Given the description of an element on the screen output the (x, y) to click on. 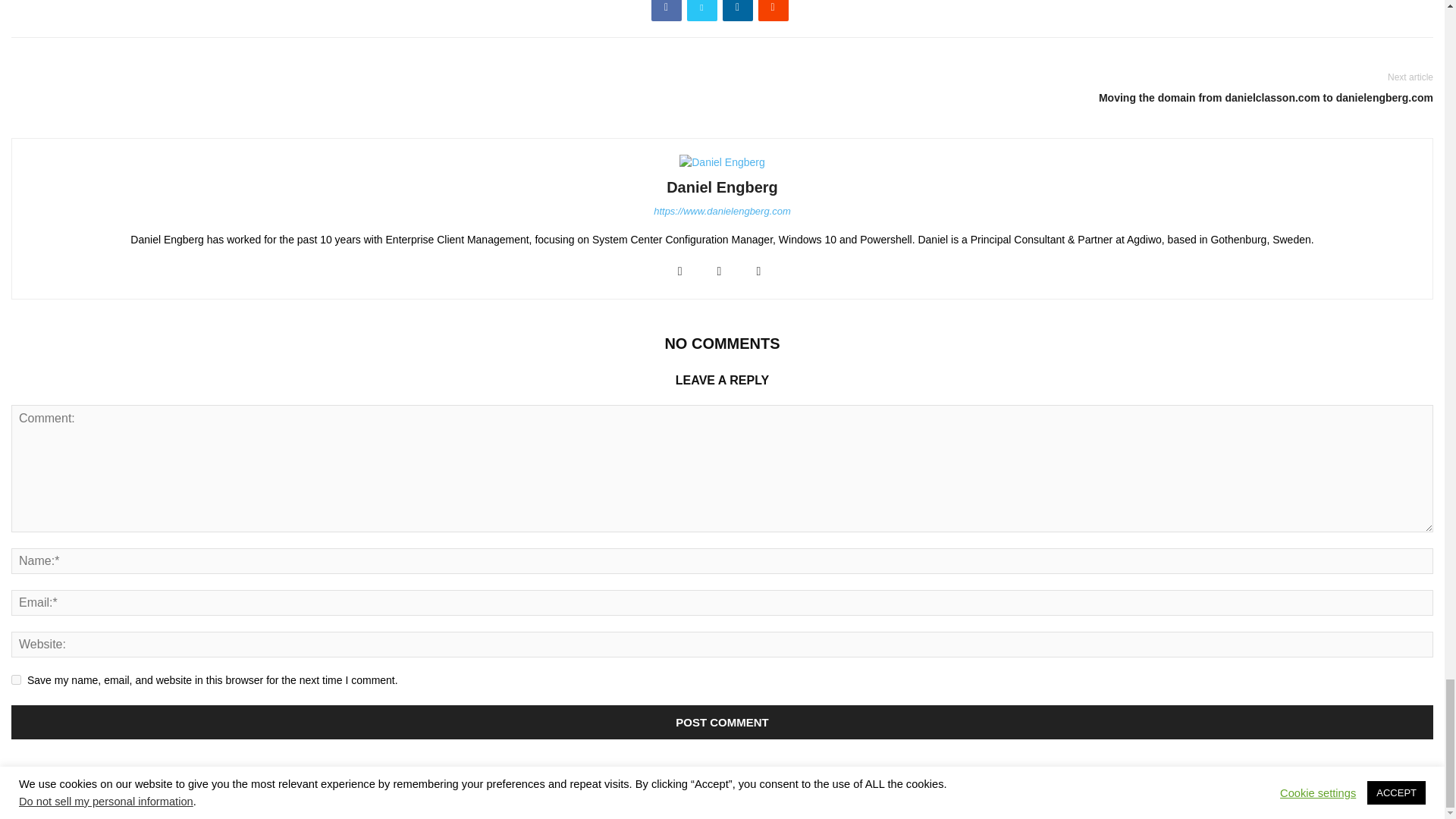
yes (16, 679)
Post Comment (721, 722)
